Given the description of an element on the screen output the (x, y) to click on. 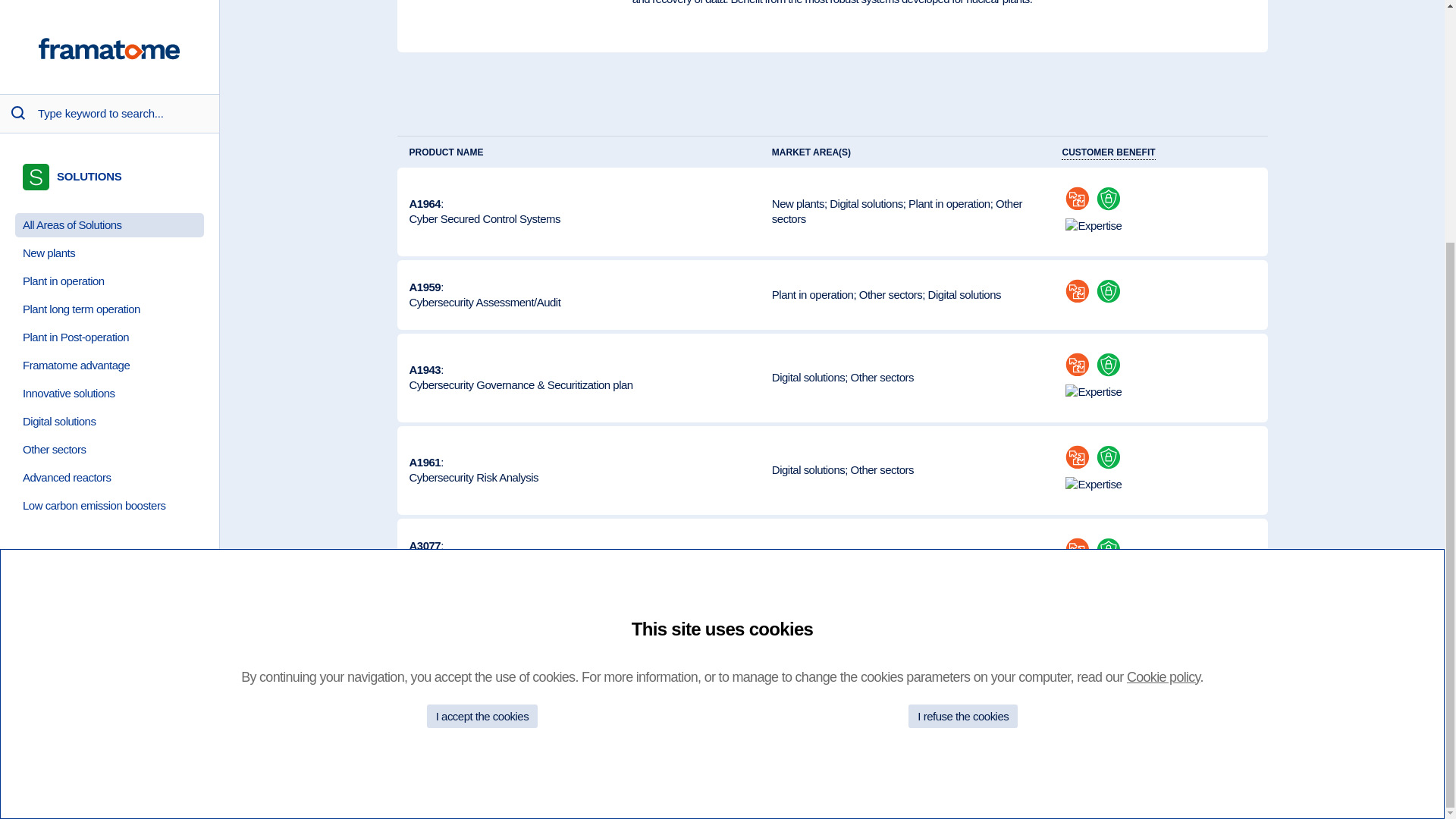
Other sectors (896, 211)
Cookie policy (97, 459)
Digital solutions (807, 469)
Framatome advantage (109, 29)
Other sectors (890, 294)
Digital solutions (865, 203)
Digital solutions (578, 470)
New plants (865, 553)
Digital solutions (797, 203)
